Given the description of an element on the screen output the (x, y) to click on. 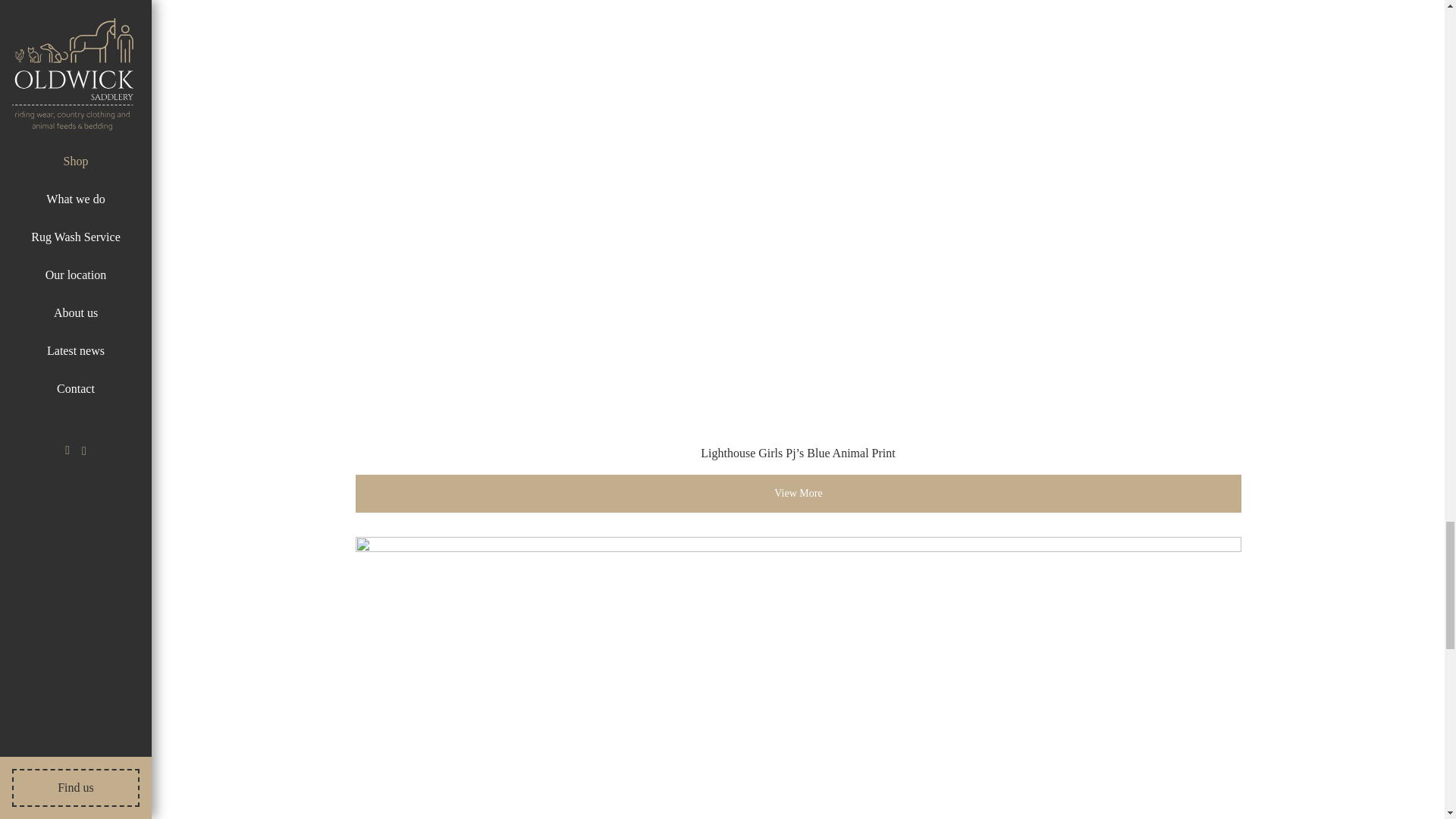
View More (797, 493)
